Given the description of an element on the screen output the (x, y) to click on. 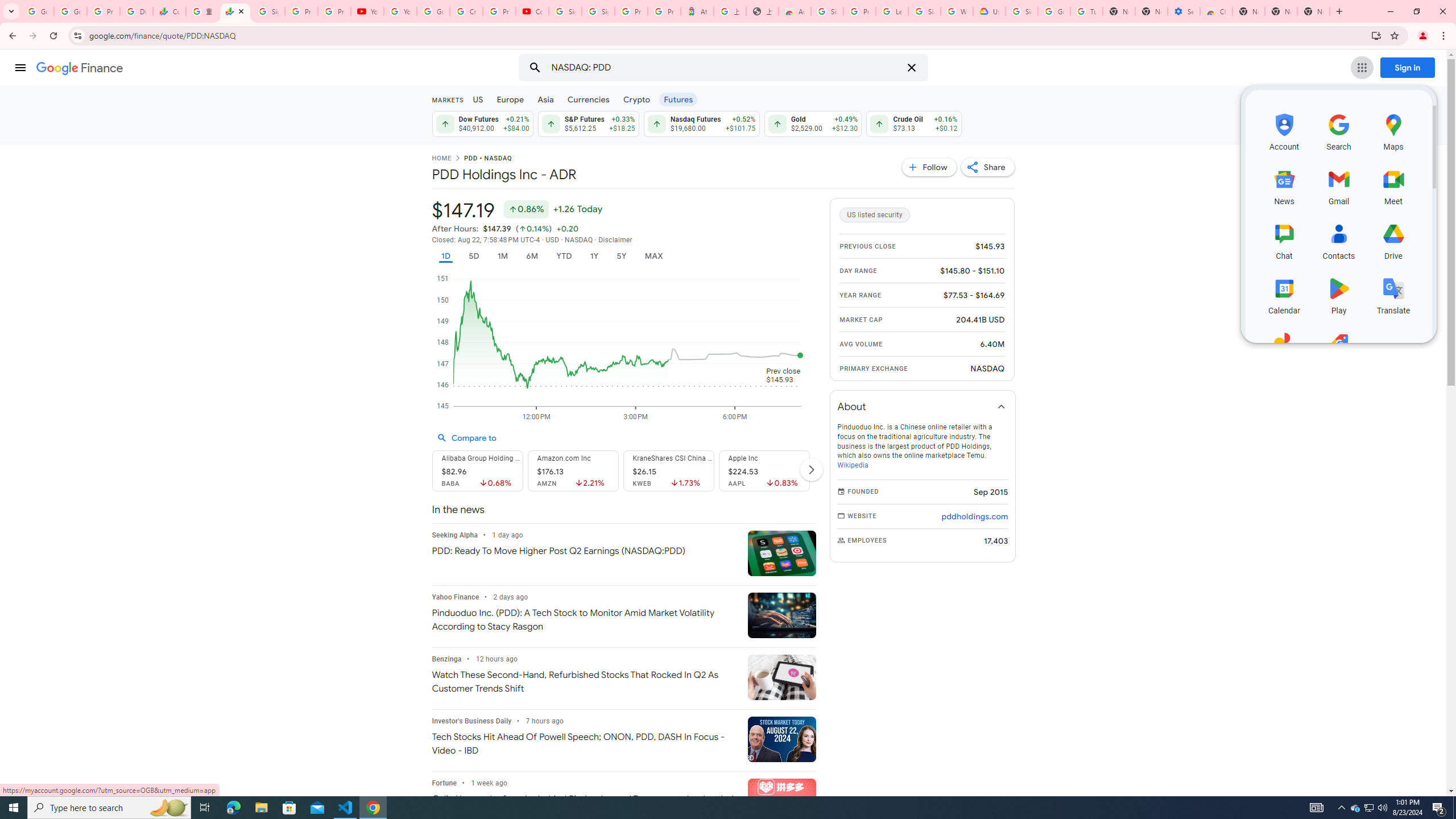
PDD Holdings Inc - ADR (PDD) Price & News - Google Finance (235, 11)
HOME (440, 158)
Futures (678, 99)
New Tab (1248, 11)
Sign in - Google Accounts (827, 11)
Chrome Web Store - Accessibility extensions (1216, 11)
About (923, 406)
Install Google Finance (1376, 35)
Google Account Help (1053, 11)
Crypto (636, 99)
